Given the description of an element on the screen output the (x, y) to click on. 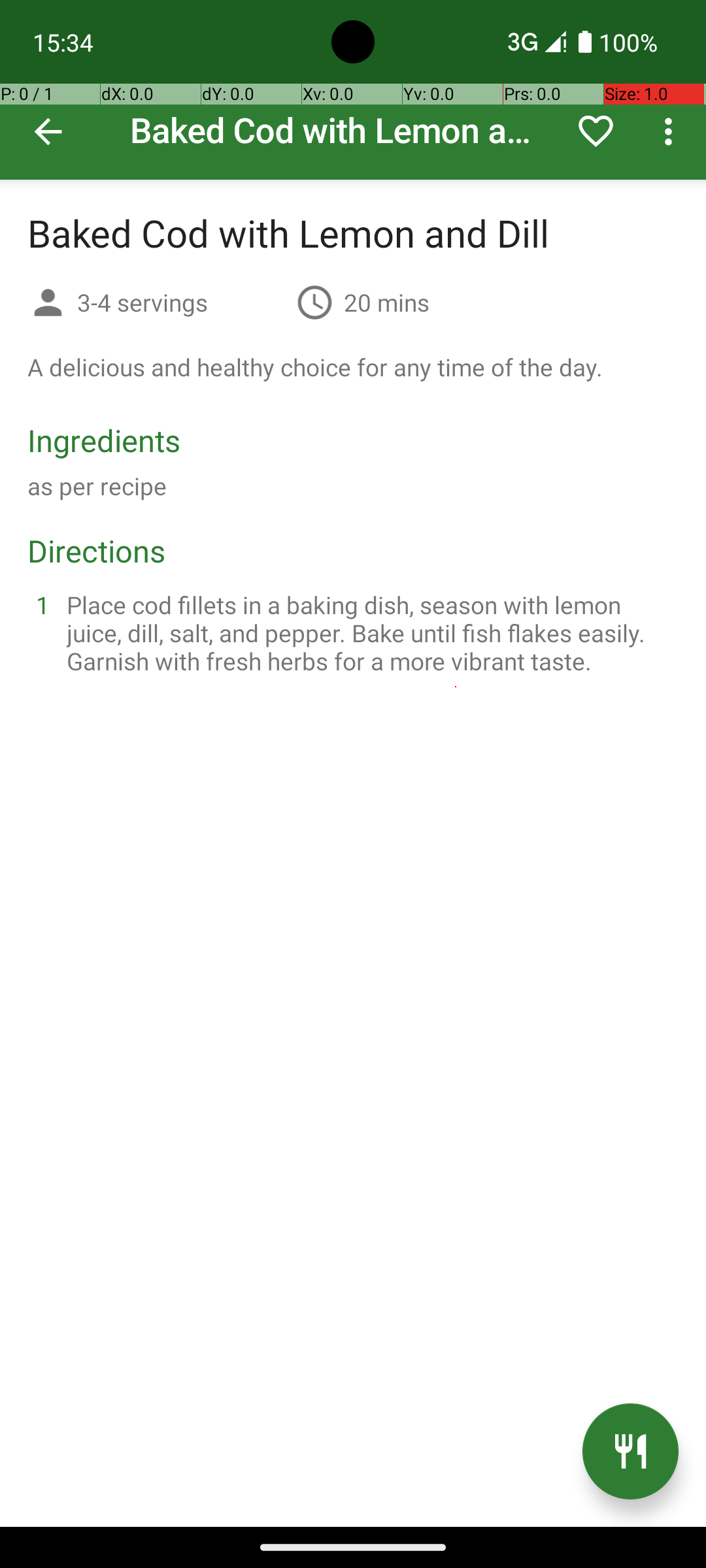
as per recipe Element type: android.widget.TextView (96, 485)
Place cod fillets in a baking dish, season with lemon juice, dill, salt, and pepper. Bake until fish flakes easily. Garnish with fresh herbs for a more vibrant taste. Element type: android.widget.TextView (368, 632)
